Given the description of an element on the screen output the (x, y) to click on. 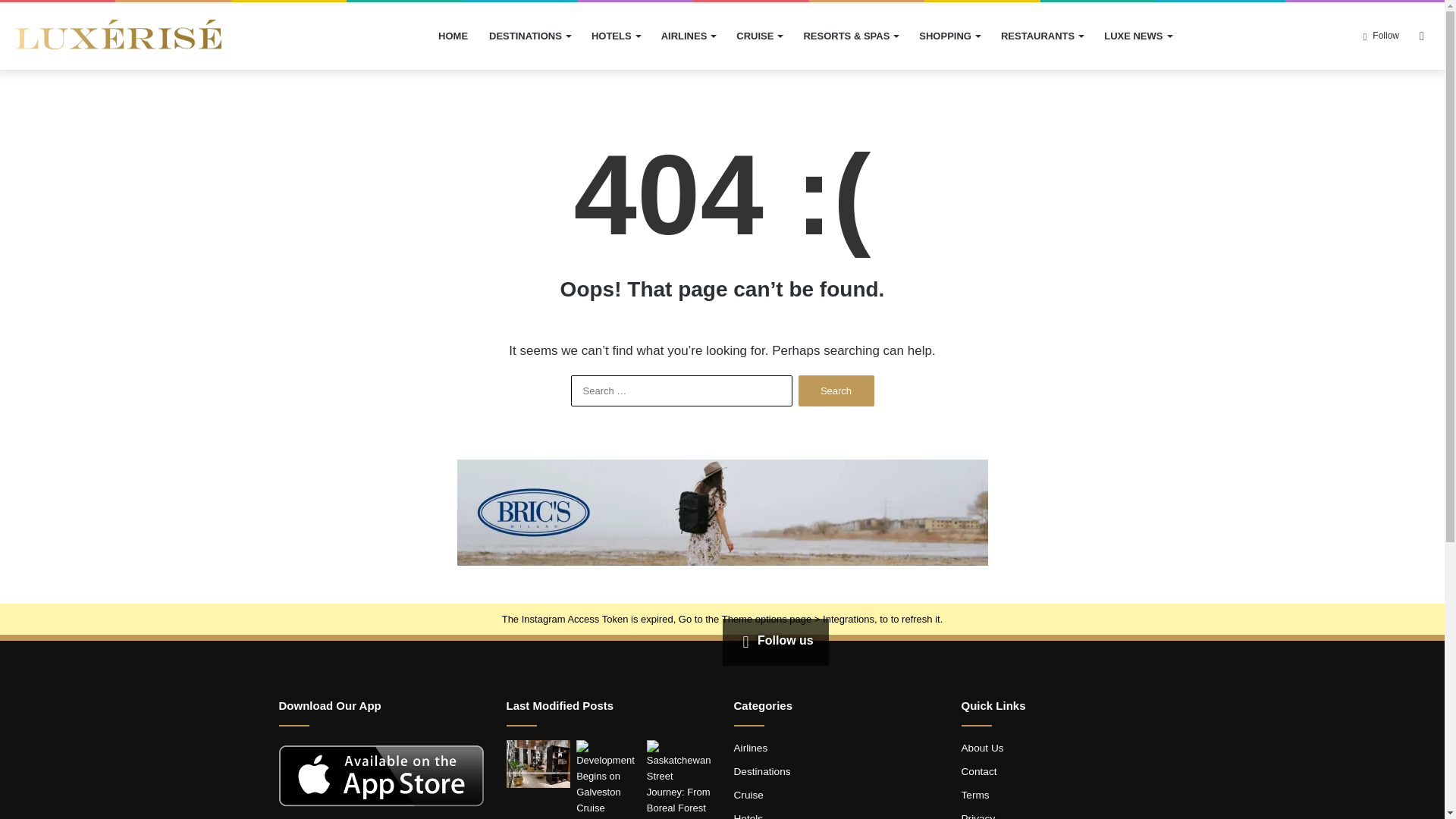
Cruise (747, 794)
Follow us (774, 640)
CRUISE (758, 35)
LUXE NEWS (1136, 35)
RESTAURANTS (1041, 35)
HOTELS (615, 35)
Airlines (750, 747)
AIRLINES (688, 35)
Luxerise (118, 35)
Search (835, 390)
